Given the description of an element on the screen output the (x, y) to click on. 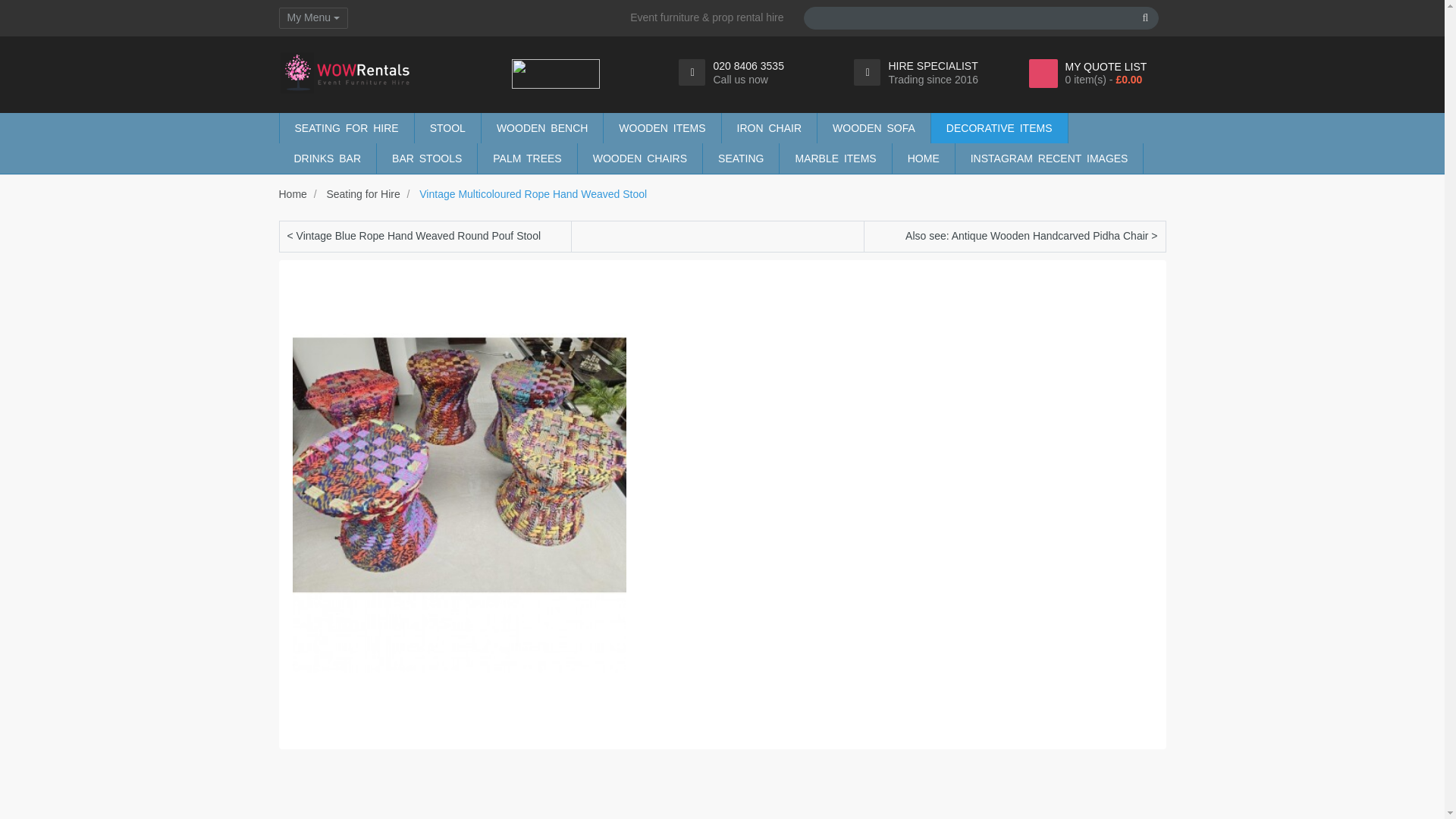
BAR STOOLS (427, 158)
WOODEN SOFA (873, 128)
Go to Home Page (293, 193)
WOODEN ITEMS (662, 128)
SEATING (740, 158)
MY QUOTE LIST (1105, 66)
DRINKS BAR (328, 158)
WOODEN BENCH (541, 128)
Home (293, 193)
Search (1144, 17)
